Given the description of an element on the screen output the (x, y) to click on. 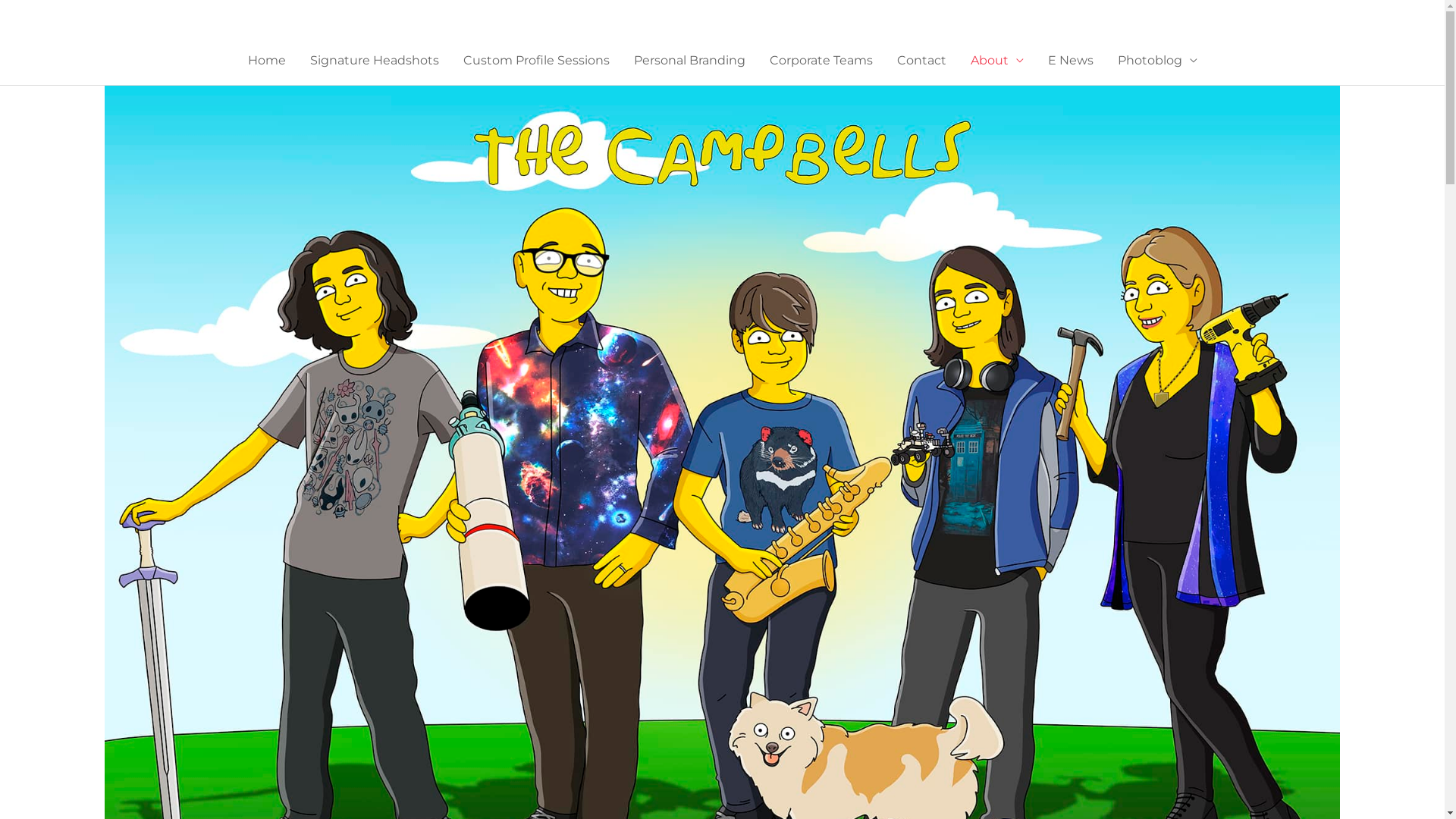
Custom Profile Sessions Element type: text (535, 60)
Contact Element type: text (920, 60)
E News Element type: text (1070, 60)
Corporate Teams Element type: text (820, 60)
About Element type: text (996, 60)
Personal Branding Element type: text (689, 60)
Photoblog Element type: text (1157, 60)
Signature Headshots Element type: text (373, 60)
Home Element type: text (266, 60)
